Given the description of an element on the screen output the (x, y) to click on. 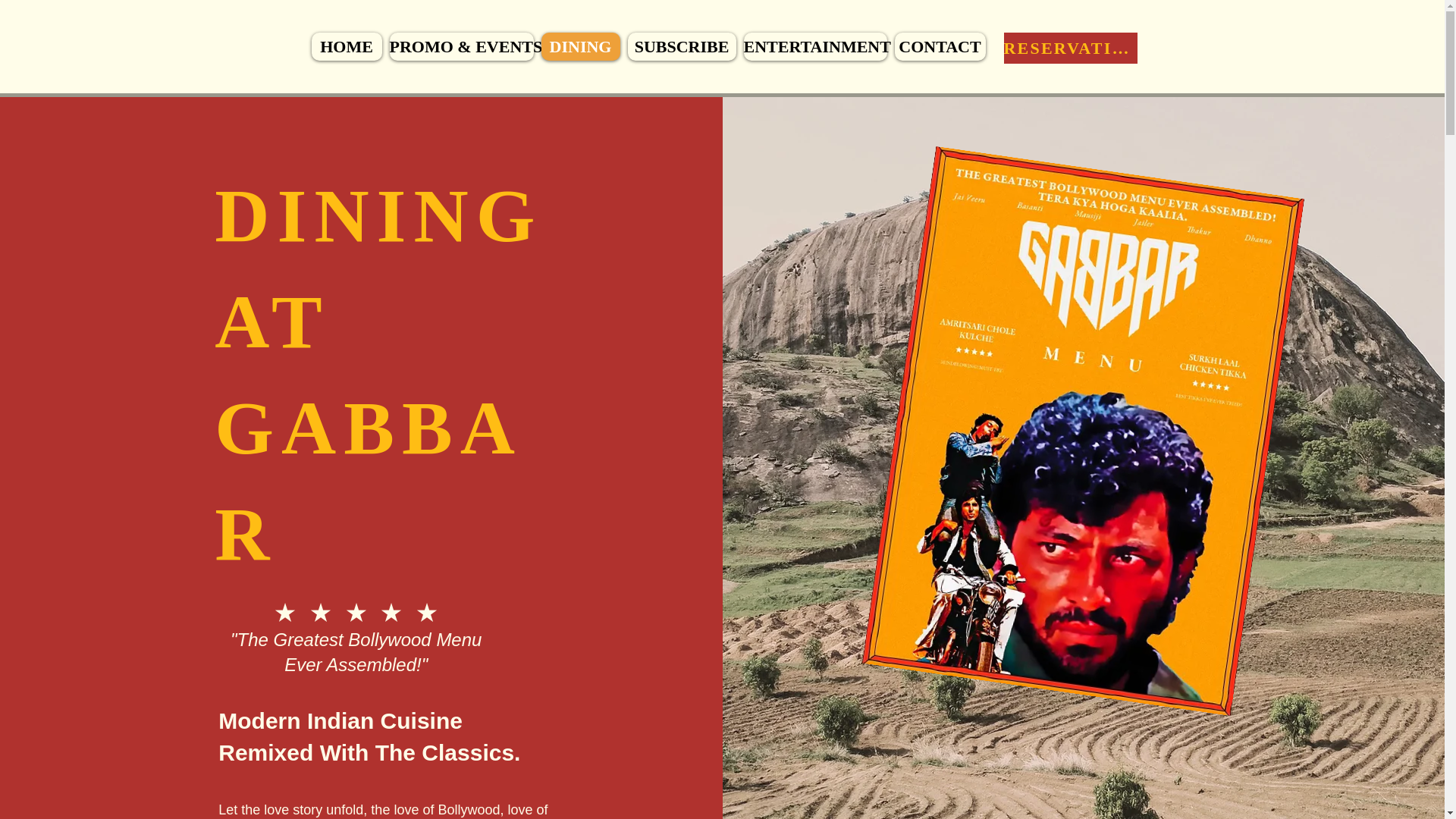
HOME (346, 46)
DINING (580, 46)
CONTACT (940, 46)
SUBSCRIBE (681, 46)
RESERVATIONS (1070, 47)
ENTERTAINMENT (814, 46)
